Given the description of an element on the screen output the (x, y) to click on. 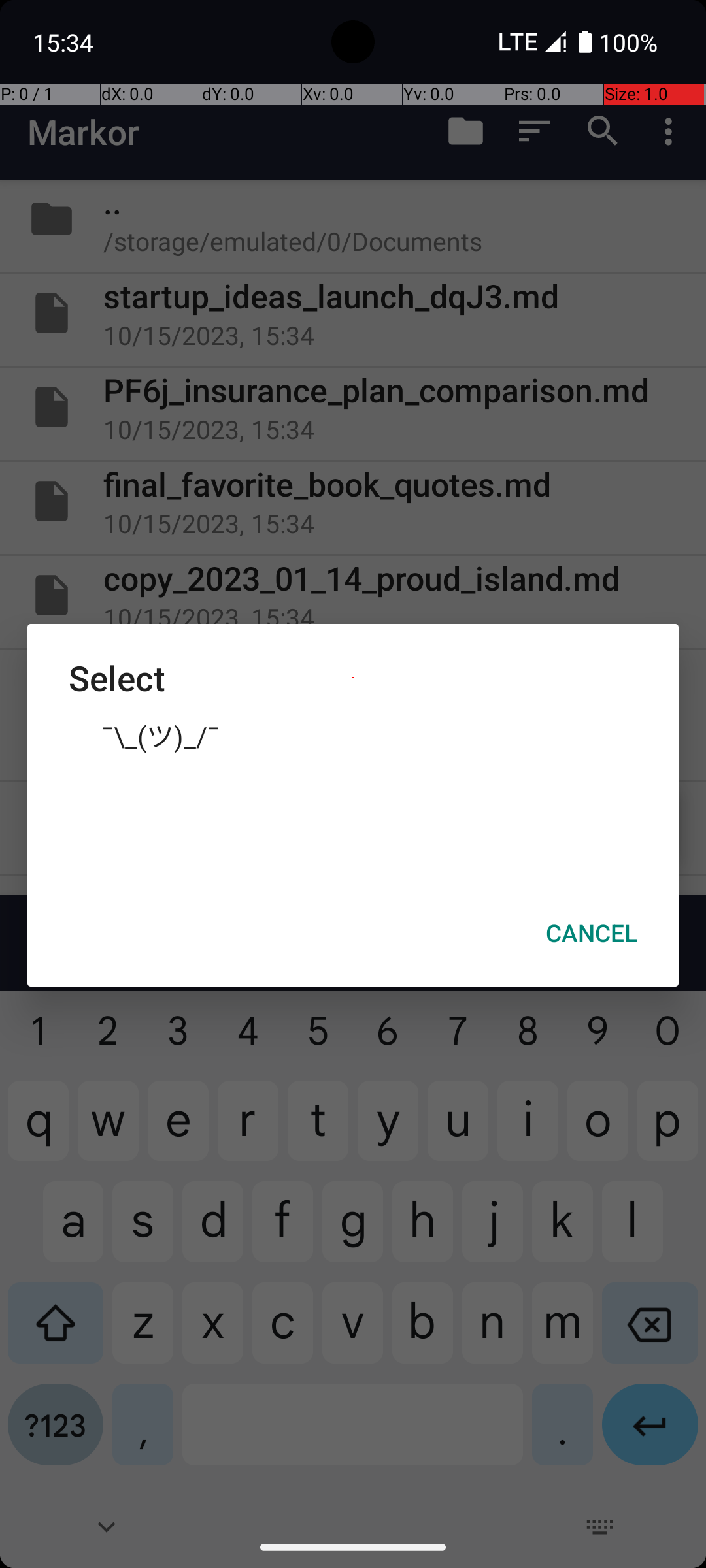
Select Element type: android.widget.TextView (352, 677)
     ¯\_(ツ)_/¯      Element type: android.widget.TextView (352, 734)
